Given the description of an element on the screen output the (x, y) to click on. 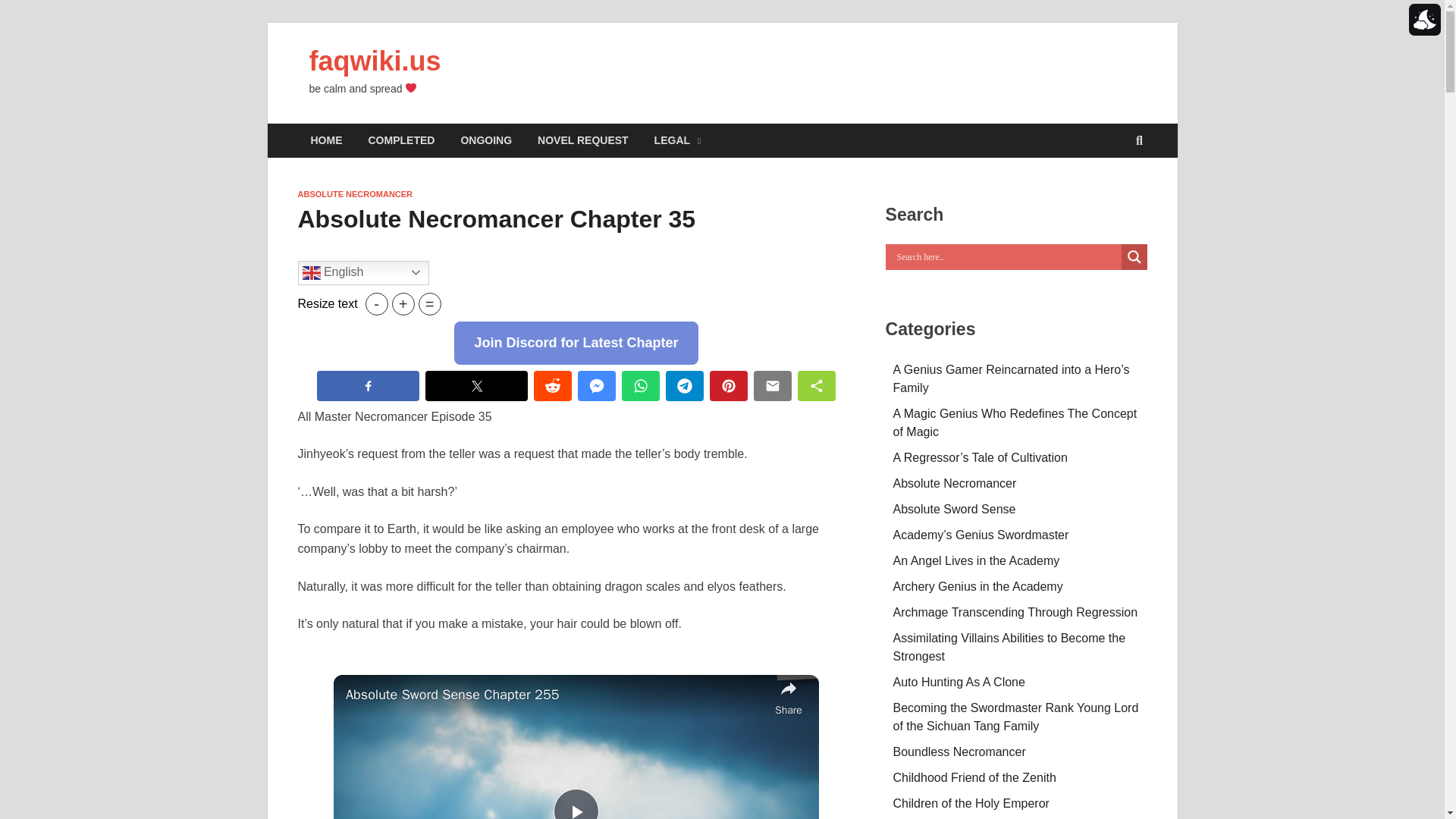
HOME (326, 140)
NOVEL REQUEST (583, 140)
ABSOLUTE NECROMANCER (354, 194)
Join Discord for Latest Chapter (575, 342)
Play Video (575, 803)
faqwiki.us (374, 60)
COMPLETED (400, 140)
LEGAL (677, 140)
Play Video (575, 803)
Decrease text size (376, 303)
Reset text size (430, 303)
English (362, 273)
Increase text size (402, 303)
ONGOING (485, 140)
